Given the description of an element on the screen output the (x, y) to click on. 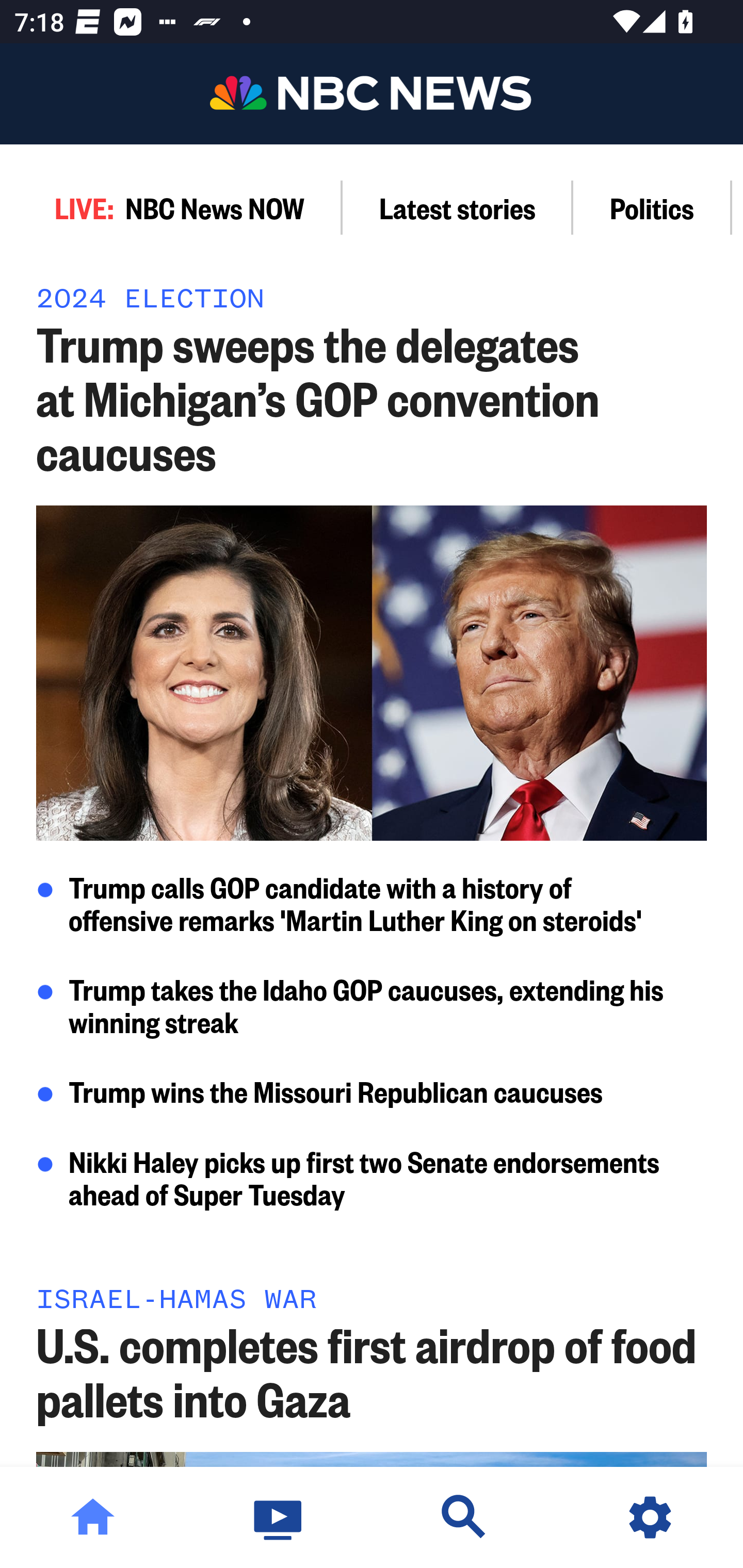
LIVE:  NBC News NOW (171, 207)
Latest stories Section,Latest stories (457, 207)
Politics Section,Politics (652, 207)
Watch (278, 1517)
Discover (464, 1517)
Settings (650, 1517)
